Given the description of an element on the screen output the (x, y) to click on. 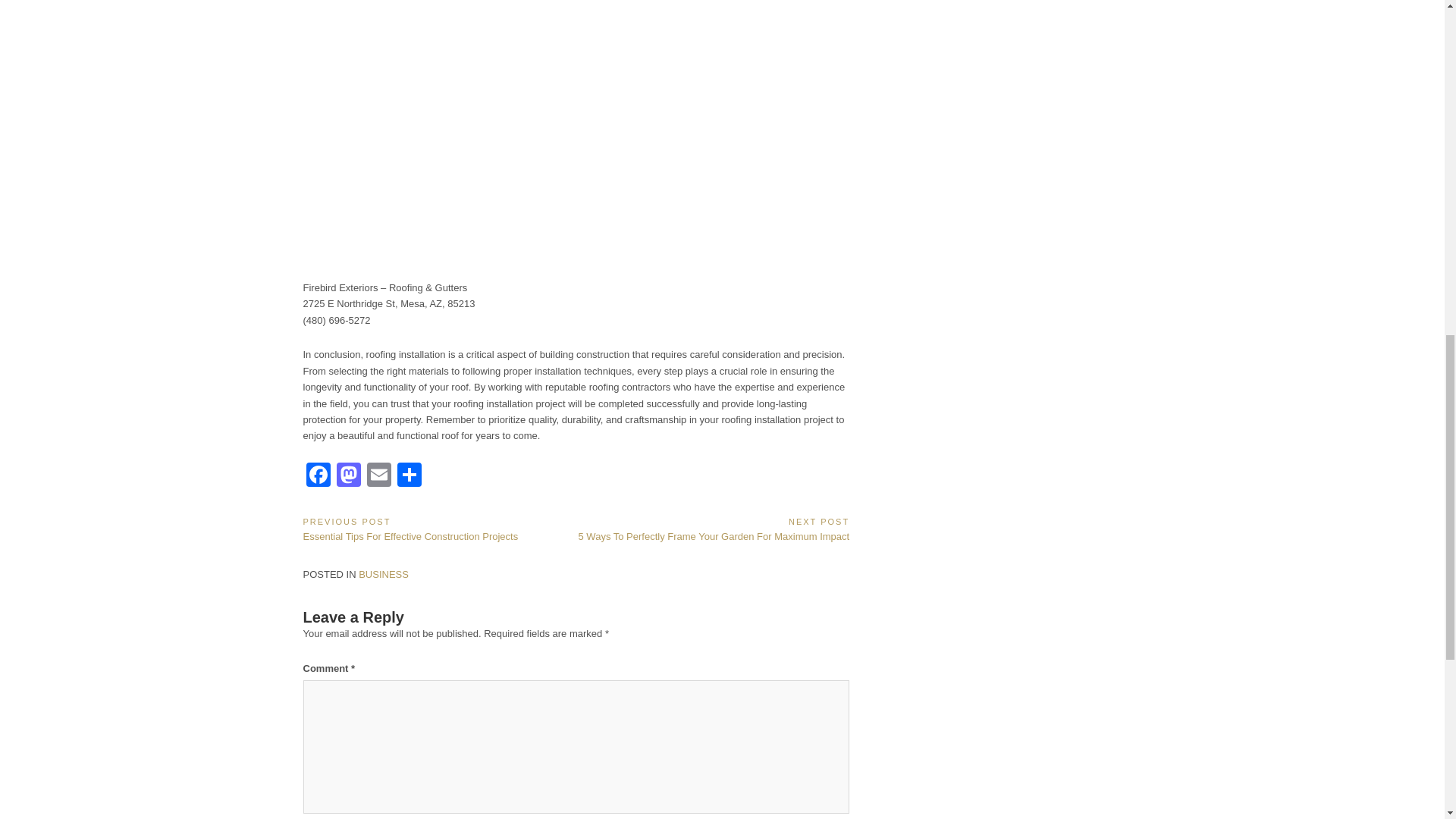
Email (379, 476)
BUSINESS (383, 573)
Facebook (317, 476)
Mastodon (348, 476)
Email (379, 476)
Facebook (317, 476)
Mastodon (348, 476)
